Given the description of an element on the screen output the (x, y) to click on. 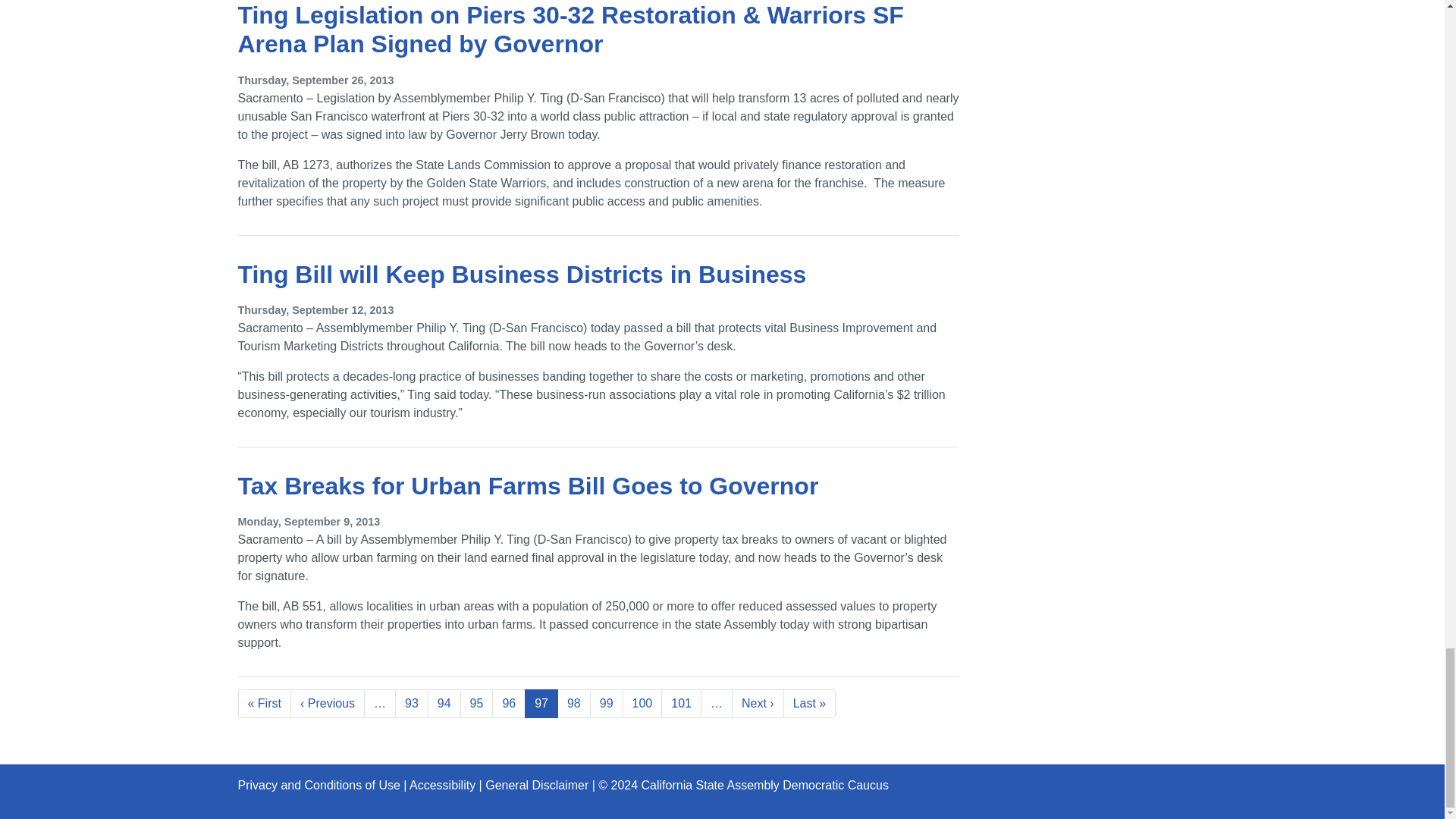
Go to first page (264, 703)
Go to next page (758, 703)
Go to previous page (327, 703)
Go to last page (809, 703)
